Given the description of an element on the screen output the (x, y) to click on. 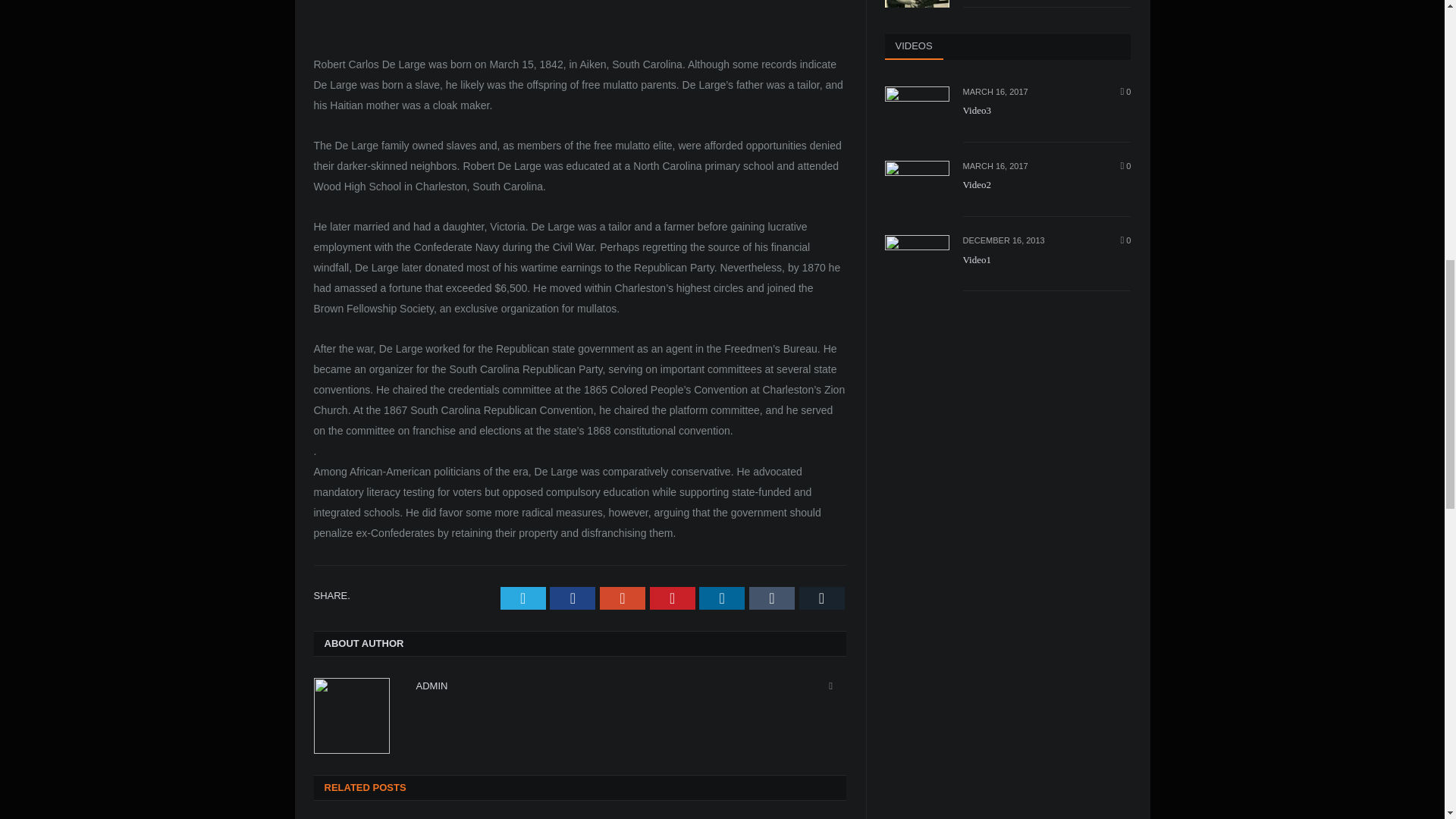
Email (821, 598)
Facebook (572, 598)
Twitter (523, 598)
LinkedIn (721, 598)
Share on Facebook (572, 598)
Tumblr (771, 598)
Pinterest (672, 598)
Tweet It (523, 598)
